Given the description of an element on the screen output the (x, y) to click on. 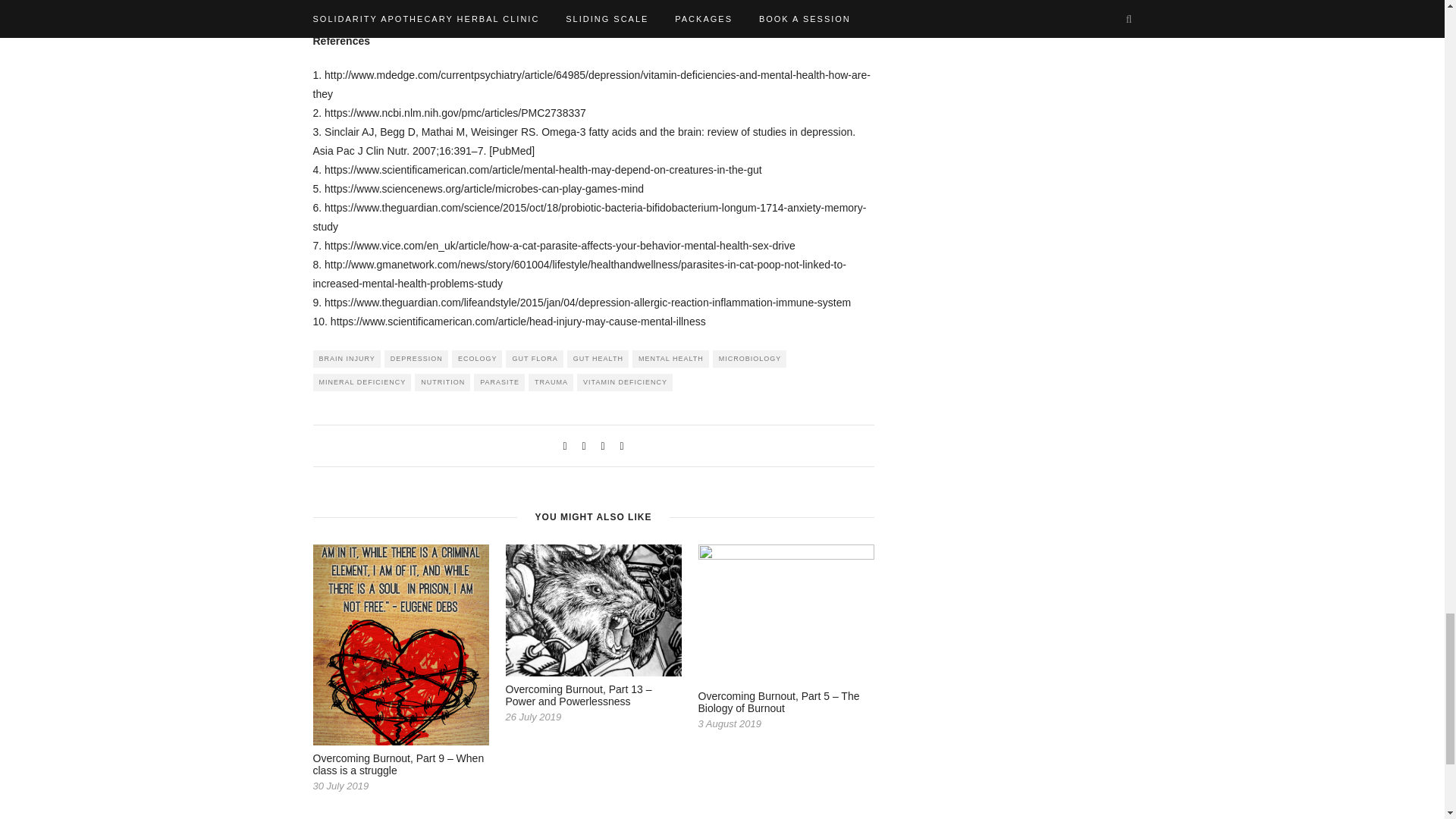
MENTAL HEALTH (670, 358)
NUTRITION (442, 382)
BRAIN INJURY (346, 358)
ECOLOGY (476, 358)
PARASITE (499, 382)
MINERAL DEFICIENCY (361, 382)
TRAUMA (550, 382)
DEPRESSION (416, 358)
MICROBIOLOGY (750, 358)
GUT HEALTH (597, 358)
